Given the description of an element on the screen output the (x, y) to click on. 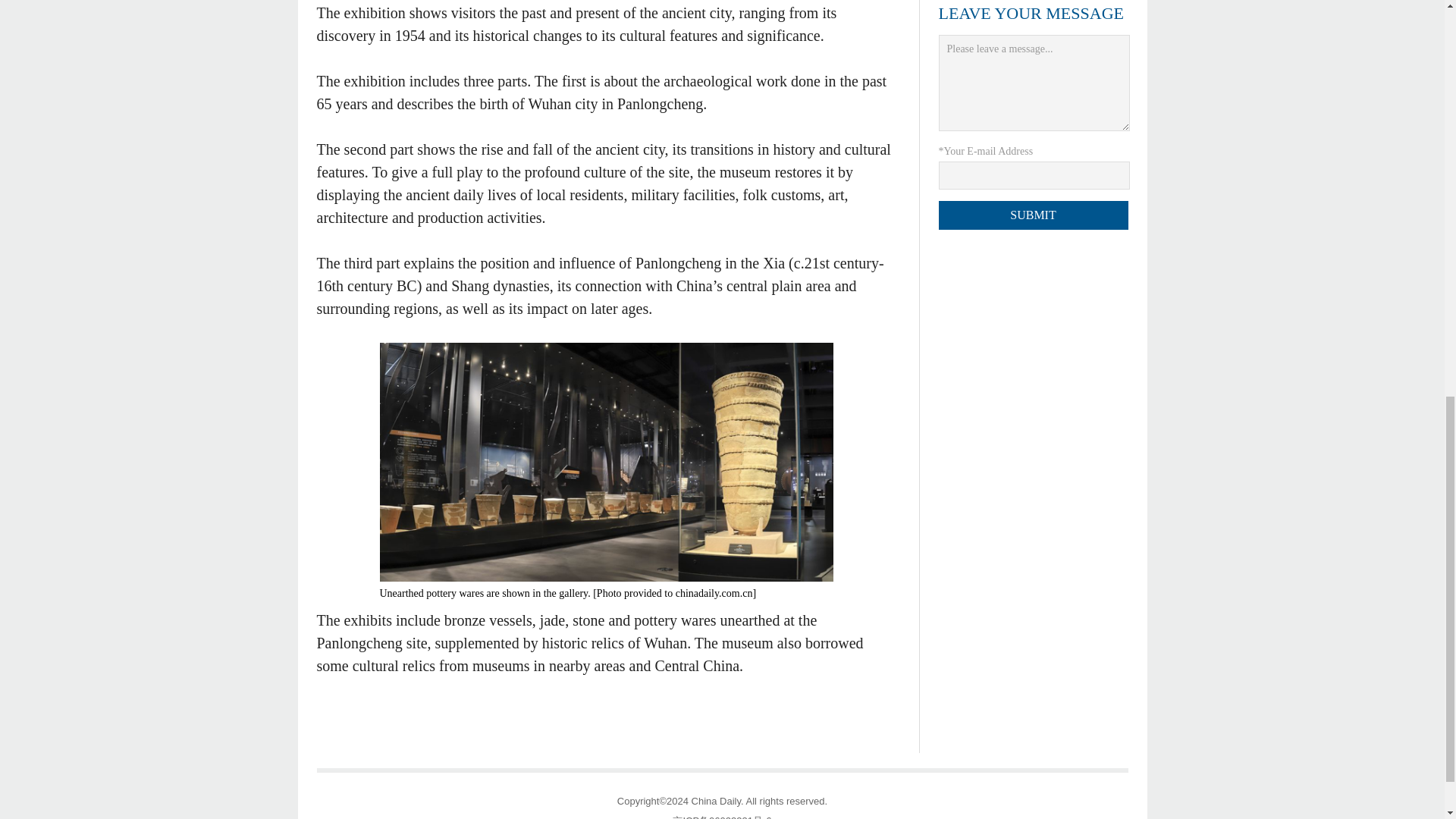
LEAVE YOUR MESSAGE (1031, 13)
Submit (1033, 215)
Submit (1033, 215)
